Given the description of an element on the screen output the (x, y) to click on. 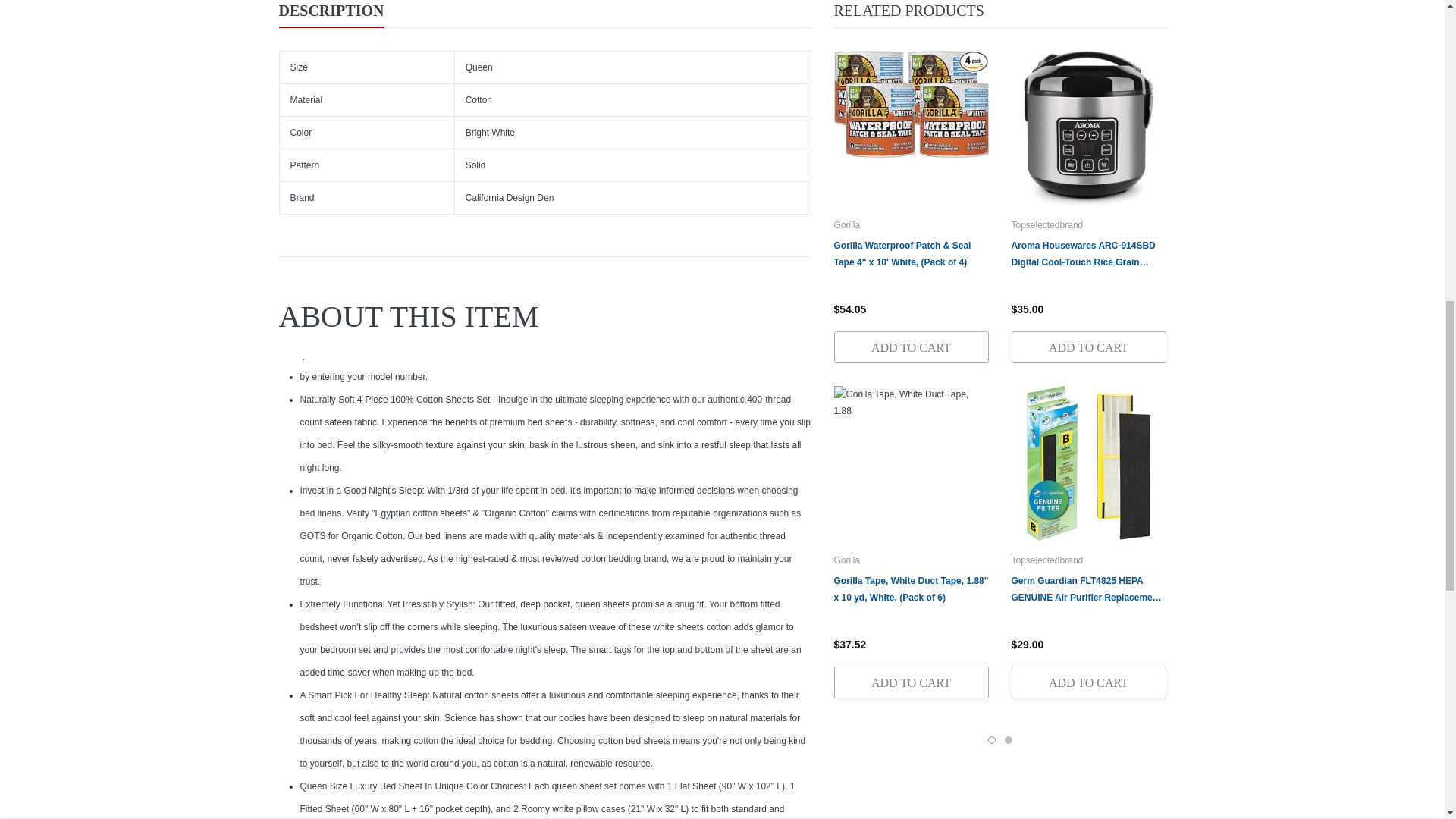
Add to cart (1090, 36)
Gorilla (847, 225)
1 (829, 36)
topselectedbrand (1047, 560)
Gorilla (847, 560)
topselectedbrand (1047, 225)
